Given the description of an element on the screen output the (x, y) to click on. 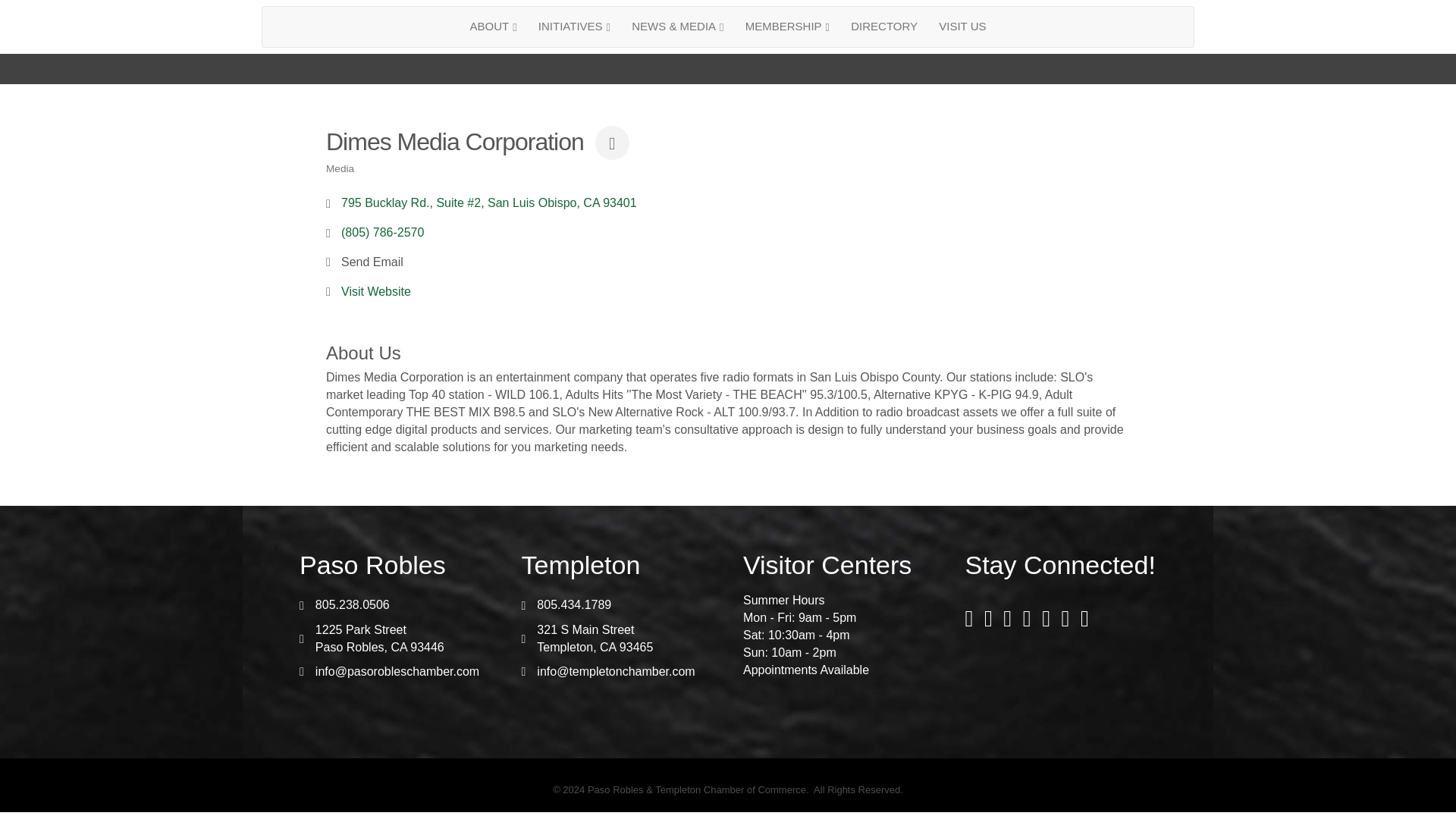
DIRECTORY (883, 25)
VISIT US (962, 25)
MEMBERSHIP (787, 26)
ABOUT (493, 26)
INITIATIVES (574, 26)
